Given the description of an element on the screen output the (x, y) to click on. 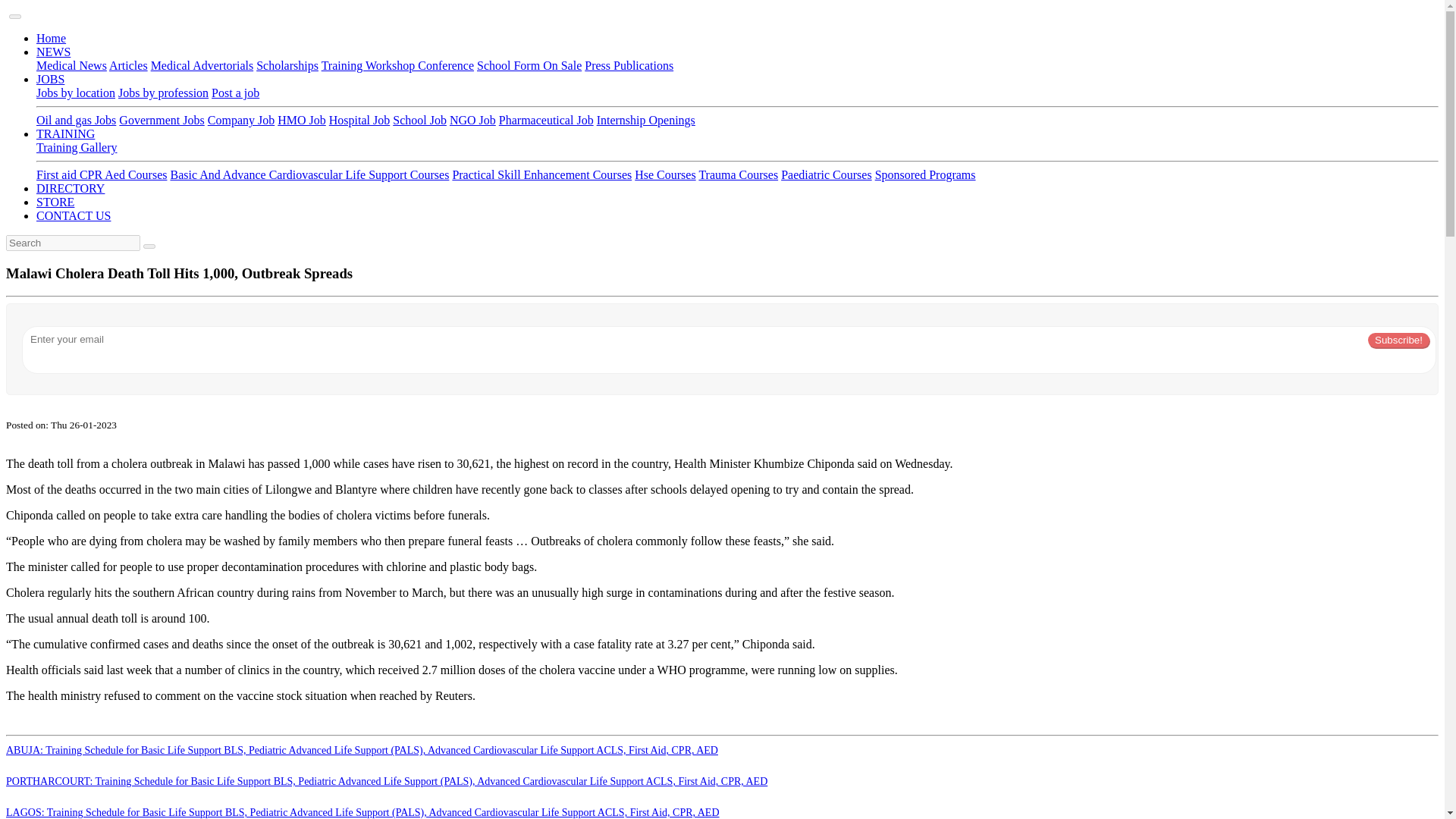
Medical News (71, 65)
Post a job (235, 92)
Hospital Job (359, 119)
NGO Job (472, 119)
Hse Courses (664, 174)
Press Publications (628, 65)
CONTACT US (73, 215)
Scholarships (287, 65)
Home (50, 38)
Jobs by location (75, 92)
Trauma Courses (737, 174)
First aid CPR Aed Courses (101, 174)
Paediatric Courses (826, 174)
TRAINING (65, 133)
HMO Job (302, 119)
